Given the description of an element on the screen output the (x, y) to click on. 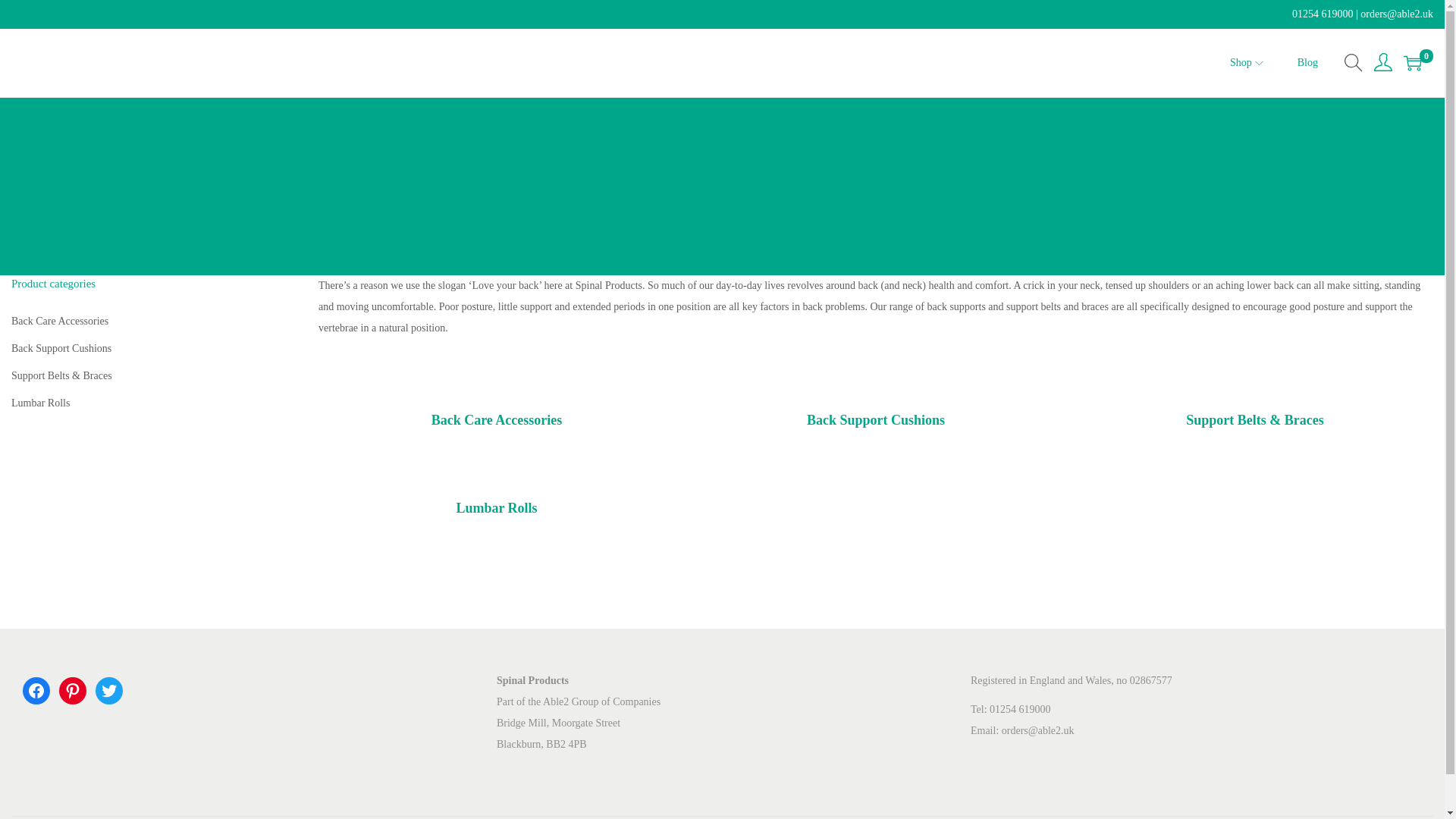
Twitter (109, 690)
Pinterest (72, 690)
Lumbar Rolls (496, 493)
Back Support Cushions (61, 348)
Lumbar Rolls (40, 402)
0 (1412, 63)
Back Care Accessories (59, 320)
Back Support Cushions (875, 405)
Back Care Accessories (496, 405)
Facebook (36, 690)
